Given the description of an element on the screen output the (x, y) to click on. 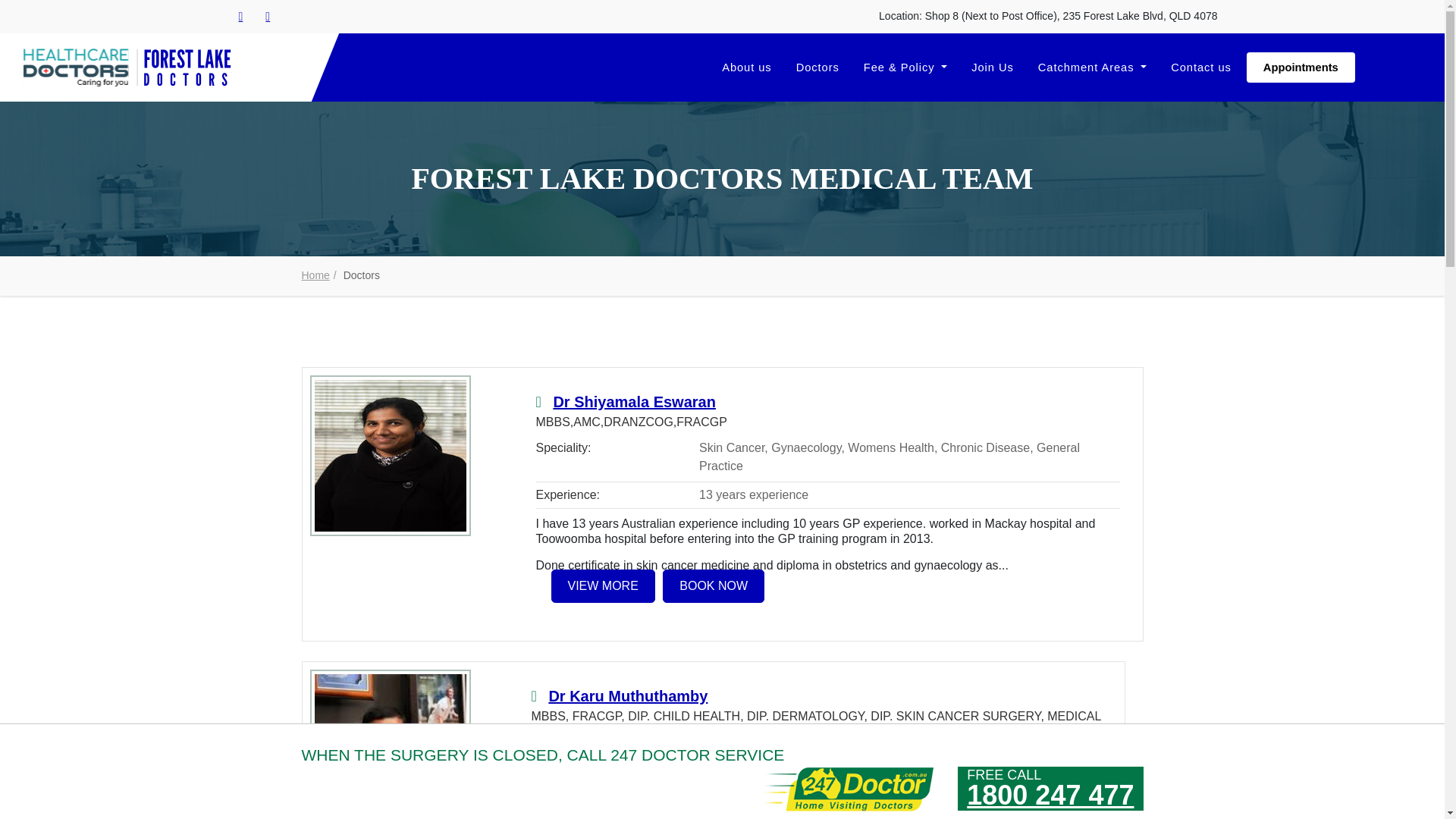
Fee & Policy Element type: text (905, 67)
View More Element type: hover (389, 748)
1800 247 477 Element type: text (1049, 795)
Dr Karu Muthuthamby Element type: text (627, 695)
Join Us Element type: text (992, 67)
Dr Shiyamala Eswaran Element type: text (633, 401)
VIEW MORE Element type: text (602, 585)
View More Element type: hover (389, 454)
Doctors Element type: text (817, 67)
reception@forestlakedoctors.com.au Element type: hover (267, 16)
About us Element type: text (746, 67)
Appointments Element type: text (1300, 67)
Contact us Element type: text (1200, 67)
BOOK NOW Element type: text (713, 585)
Call 07 3278 8877 Element type: hover (240, 16)
Home Element type: text (315, 275)
Catchment Areas Element type: text (1092, 67)
